Given the description of an element on the screen output the (x, y) to click on. 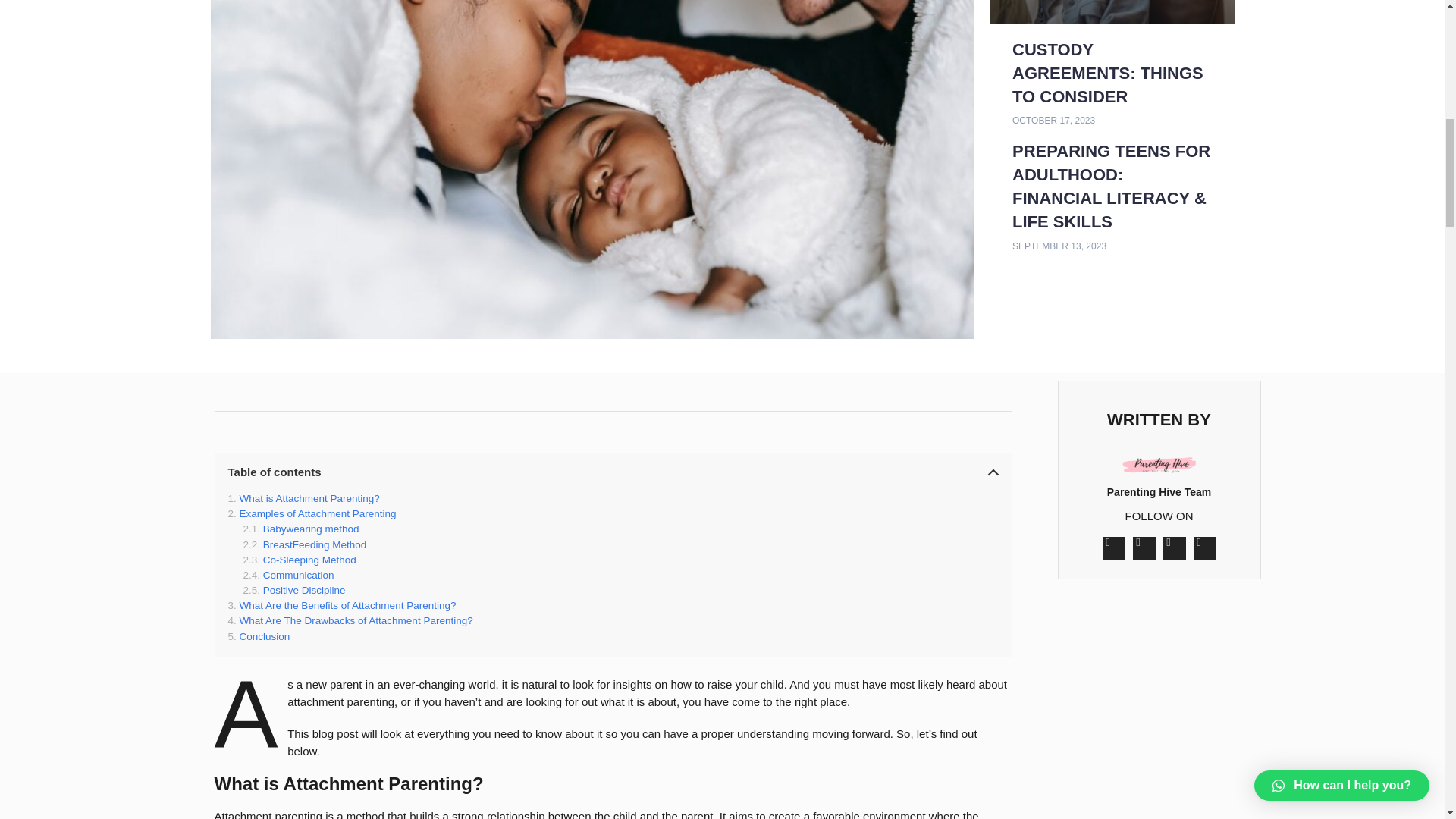
Babywearing method (300, 529)
What Are the Benefits of Attachment Parenting? (341, 605)
Positive Discipline (294, 590)
Examples of Attachment Parenting (311, 513)
What is Attachment Parenting? (302, 499)
Examples of Attachment Parenting (311, 513)
Communication (288, 575)
BreastFeeding Method (304, 544)
CUSTODY AGREEMENTS: THINGS TO CONSIDER (1107, 73)
What is Attachment Parenting? (302, 499)
Co-Sleeping Method (299, 560)
Custody Agreements: Things to Consider (1107, 73)
What Are The Drawbacks of Attachment Parenting? (349, 621)
